Given the description of an element on the screen output the (x, y) to click on. 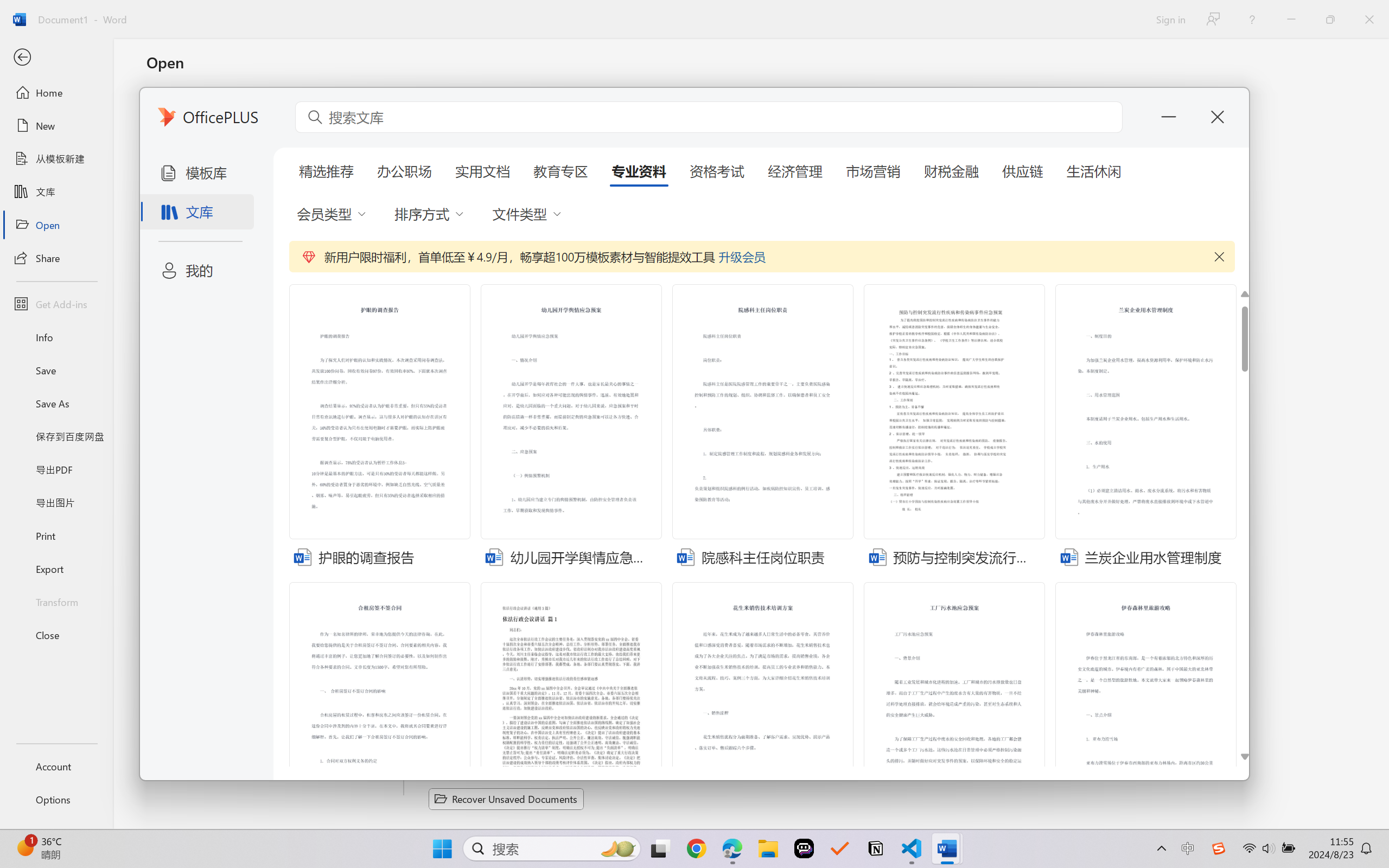
Options (56, 798)
Sign in (1170, 18)
Back (56, 57)
